Given the description of an element on the screen output the (x, y) to click on. 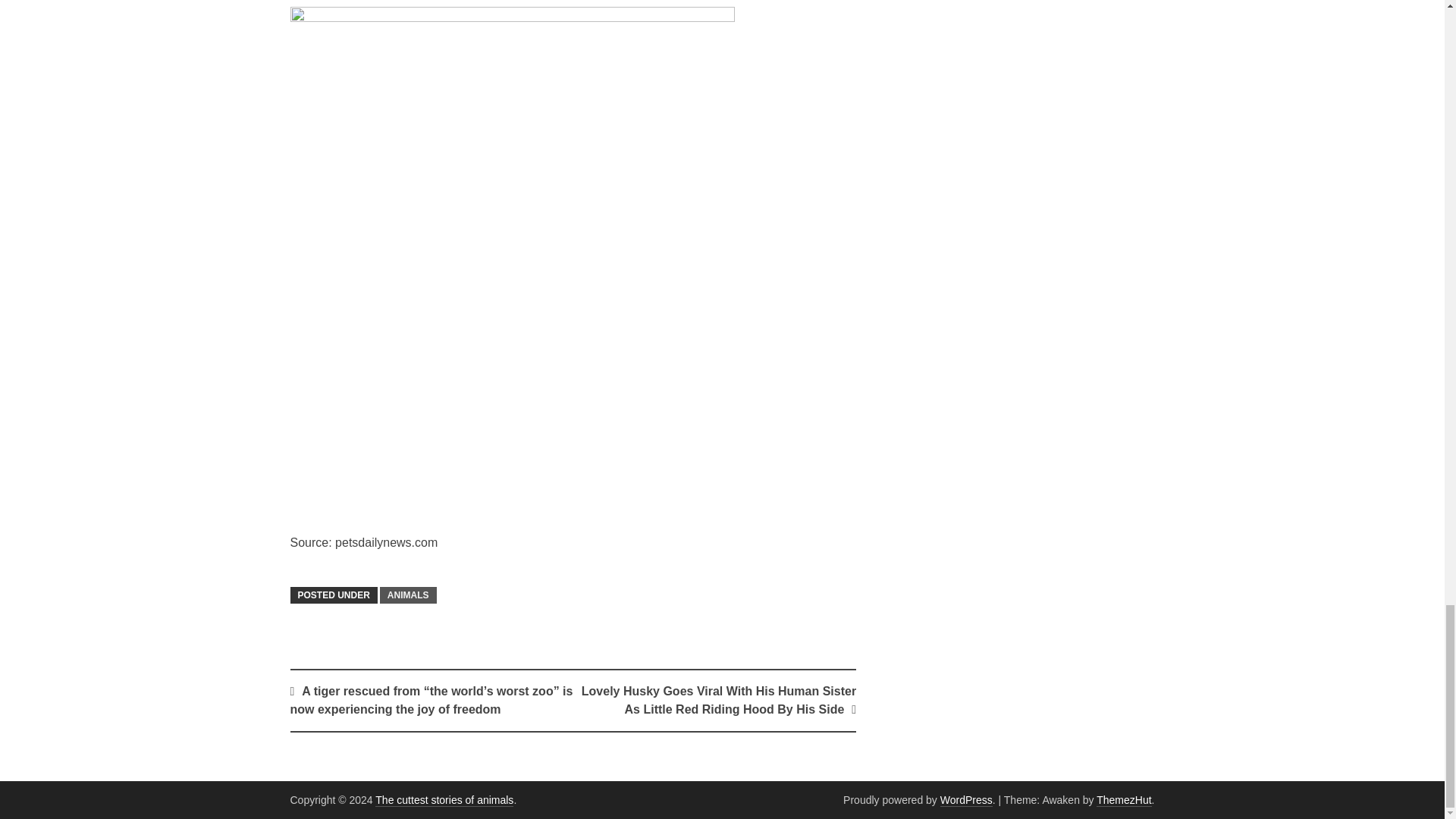
ANIMALS (408, 595)
WordPress (966, 799)
WordPress (966, 799)
The cuttest stories of animals (444, 799)
The cuttest stories of animals (444, 799)
ThemezHut (1123, 799)
